Given the description of an element on the screen output the (x, y) to click on. 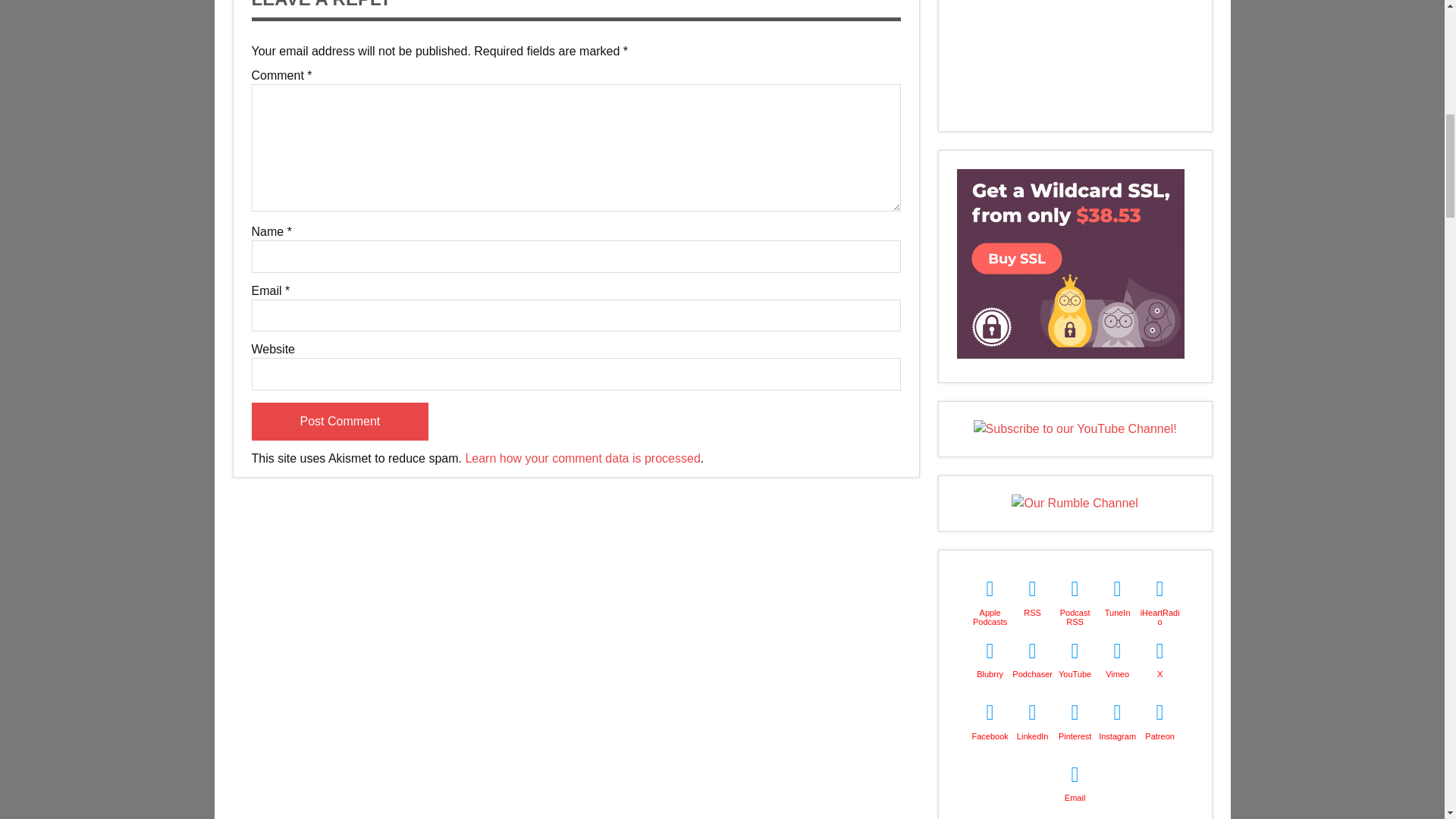
Learn how your comment data is processed (582, 458)
Post Comment (340, 421)
Post Comment (340, 421)
